Given the description of an element on the screen output the (x, y) to click on. 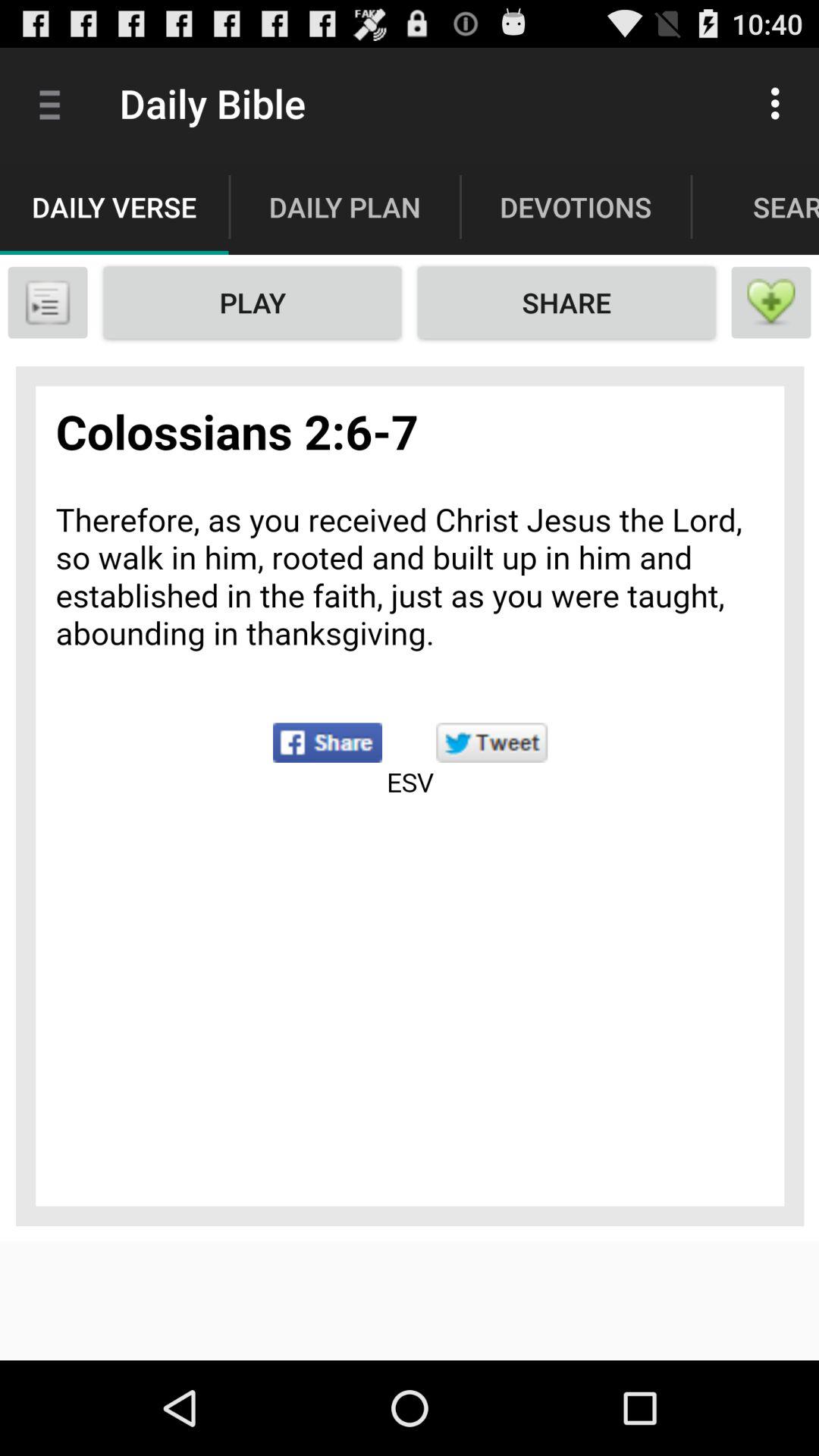
like box (771, 302)
